Given the description of an element on the screen output the (x, y) to click on. 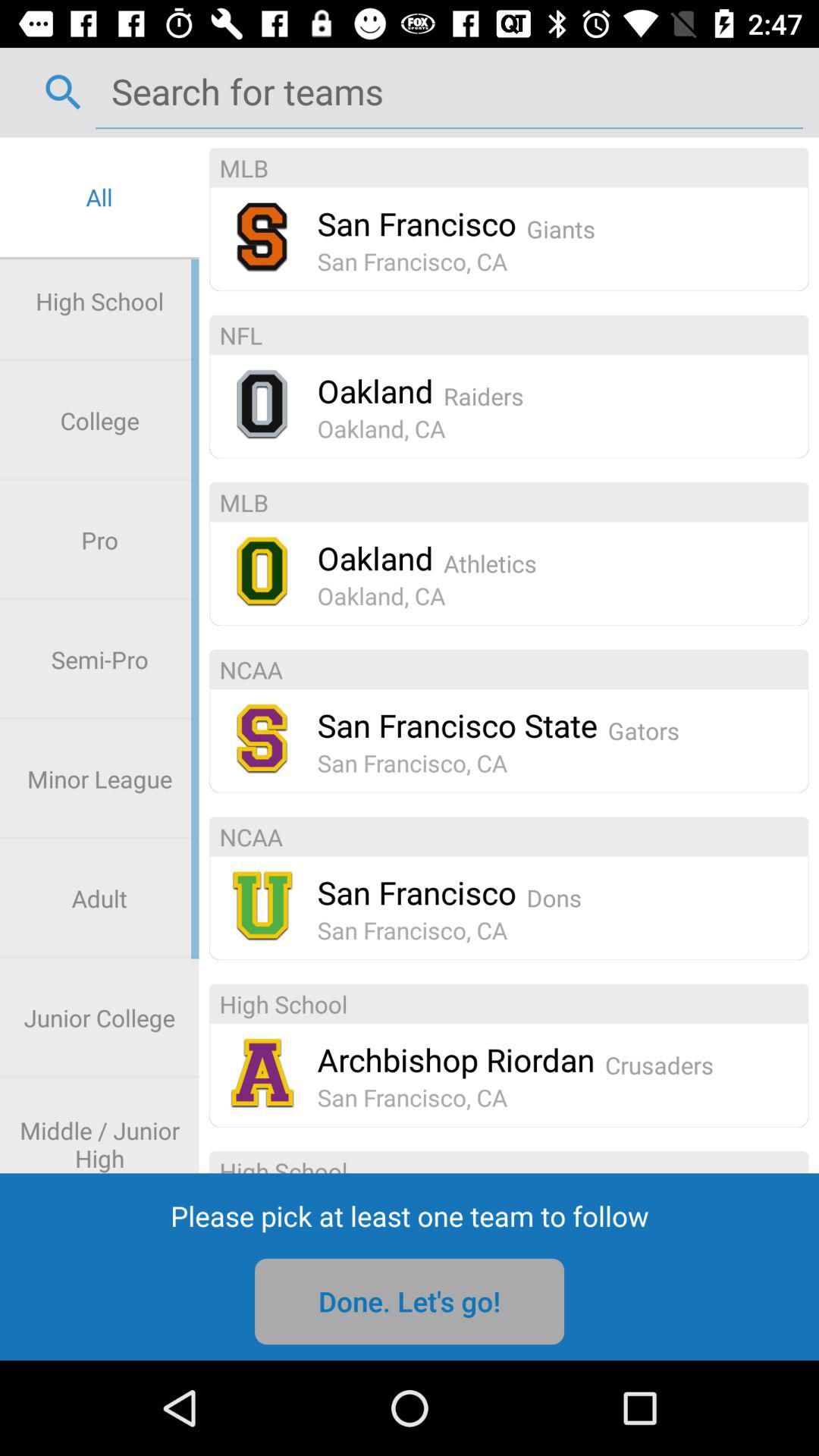
choose done let s item (409, 1301)
